Given the description of an element on the screen output the (x, y) to click on. 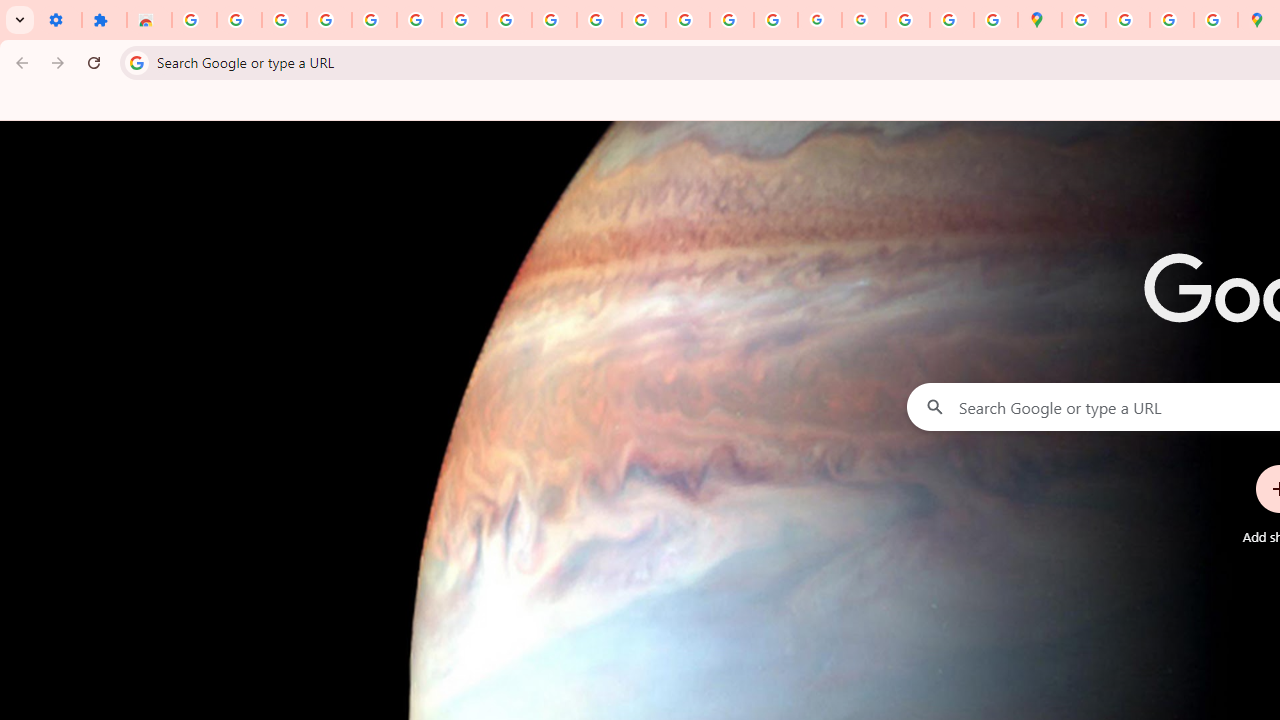
Settings - On startup (59, 20)
